Given the description of an element on the screen output the (x, y) to click on. 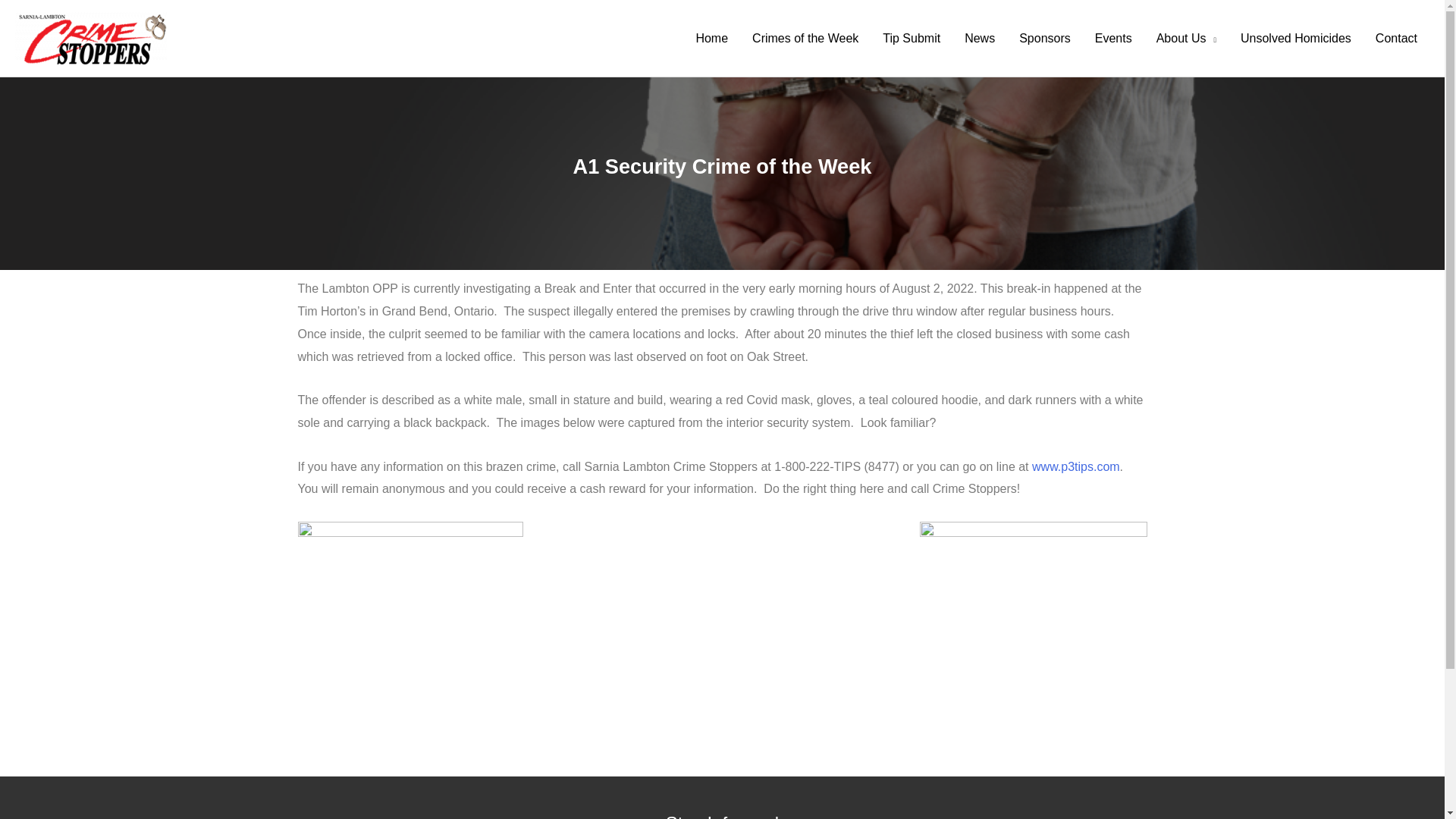
Crimes of the Week (804, 38)
Home (710, 38)
About Us (1186, 38)
Events (1113, 38)
Unsolved Homicides (1295, 38)
Sponsors (1045, 38)
Tip Submit (911, 38)
Contact (1395, 38)
News (979, 38)
www.p3tips.com (1075, 466)
